Given the description of an element on the screen output the (x, y) to click on. 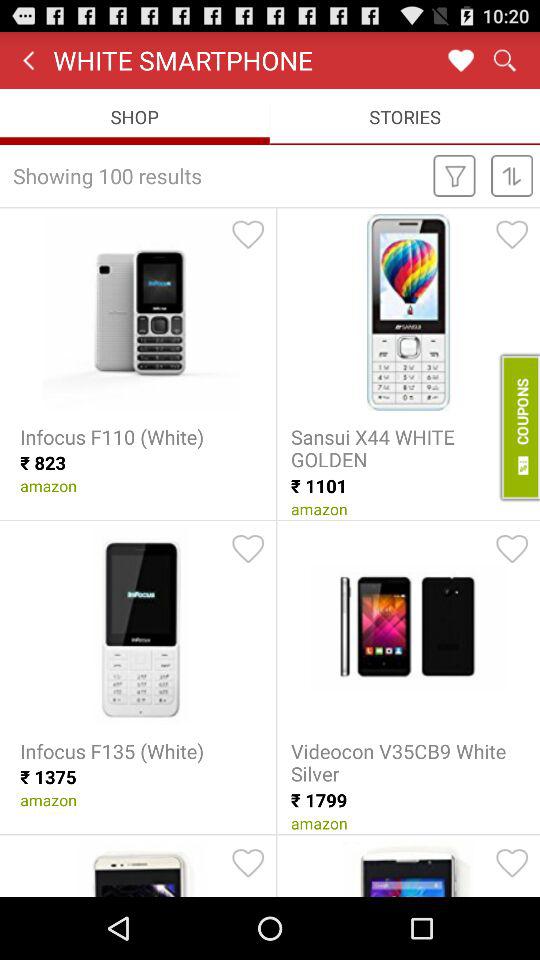
filter items on page (454, 175)
